Given the description of an element on the screen output the (x, y) to click on. 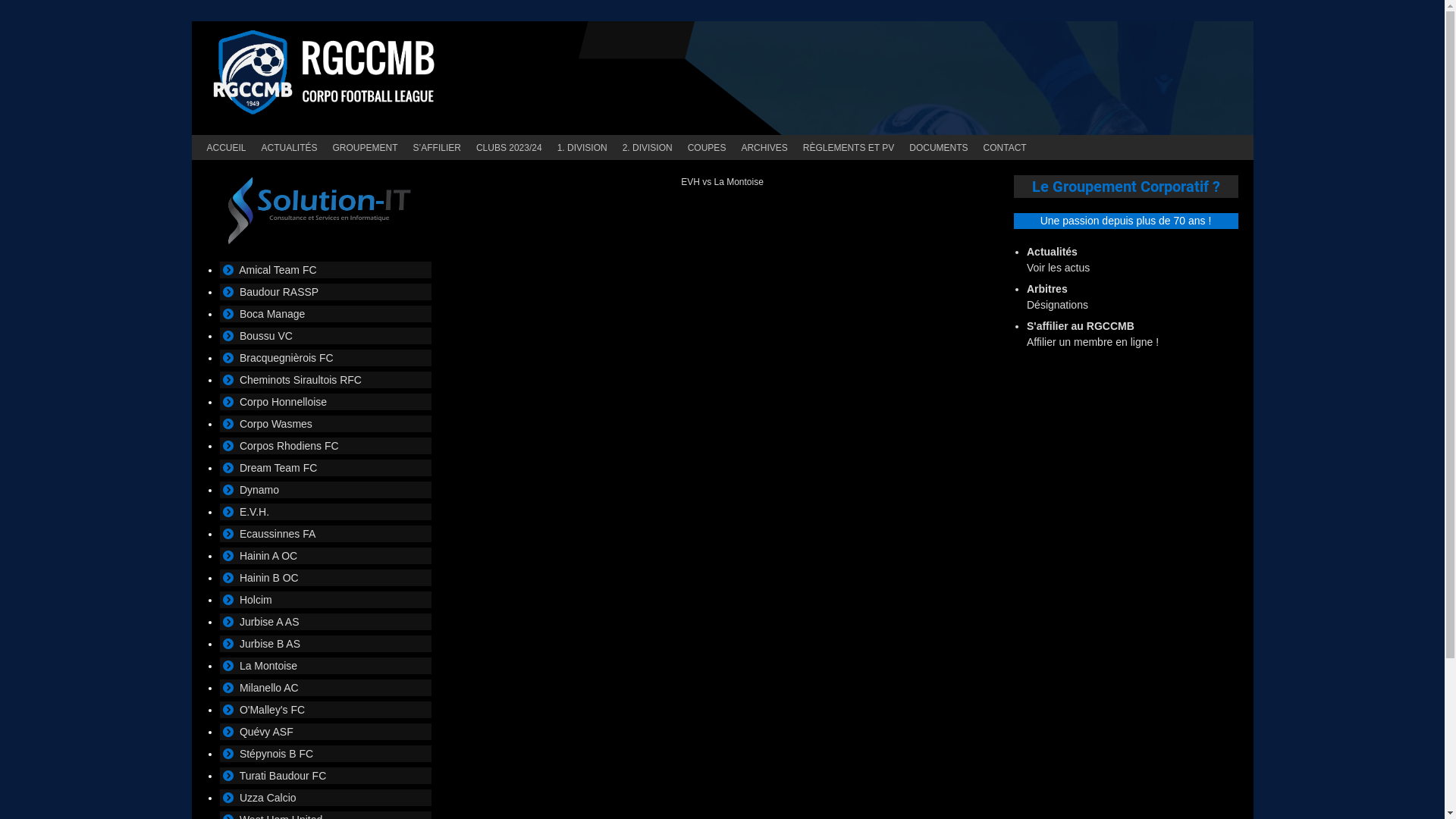
Ecaussinnes FA Element type: text (277, 533)
Corpos Rhodiens FC Element type: text (288, 445)
Affilier un membre en ligne ! Element type: text (1092, 341)
Boussu VC Element type: text (265, 335)
Boca Manage Element type: text (271, 313)
Corpo Honnelloise Element type: text (282, 401)
Hainin B OC Element type: text (268, 577)
Baudour RASSP Element type: text (278, 291)
DOCUMENTS Element type: text (938, 147)
Cheminots Siraultois RFC Element type: text (300, 379)
O'Malley's FC Element type: text (271, 709)
Voir les actus Element type: text (1057, 267)
ARCHIVES Element type: text (763, 147)
Milanello AC Element type: text (268, 687)
1. DIVISION Element type: text (582, 147)
Holcim Element type: text (255, 599)
Jurbise A AS Element type: text (269, 621)
La Montoise Element type: text (268, 665)
2. DIVISION Element type: text (647, 147)
Jurbise B AS Element type: text (269, 643)
COUPES Element type: text (707, 147)
Turati Baudour FC Element type: text (282, 775)
GROUPEMENT Element type: text (365, 147)
Dream Team FC Element type: text (277, 467)
Amical Team FC Element type: text (277, 269)
CLUBS 2023/24 Element type: text (508, 147)
Hainin A OC Element type: text (268, 555)
Uzza Calcio Element type: text (267, 797)
E.V.H. Element type: text (254, 511)
Corpo Wasmes Element type: text (275, 423)
CONTACT Element type: text (1004, 147)
ACCUEIL Element type: text (225, 147)
Dynamo Element type: text (259, 489)
